Given the description of an element on the screen output the (x, y) to click on. 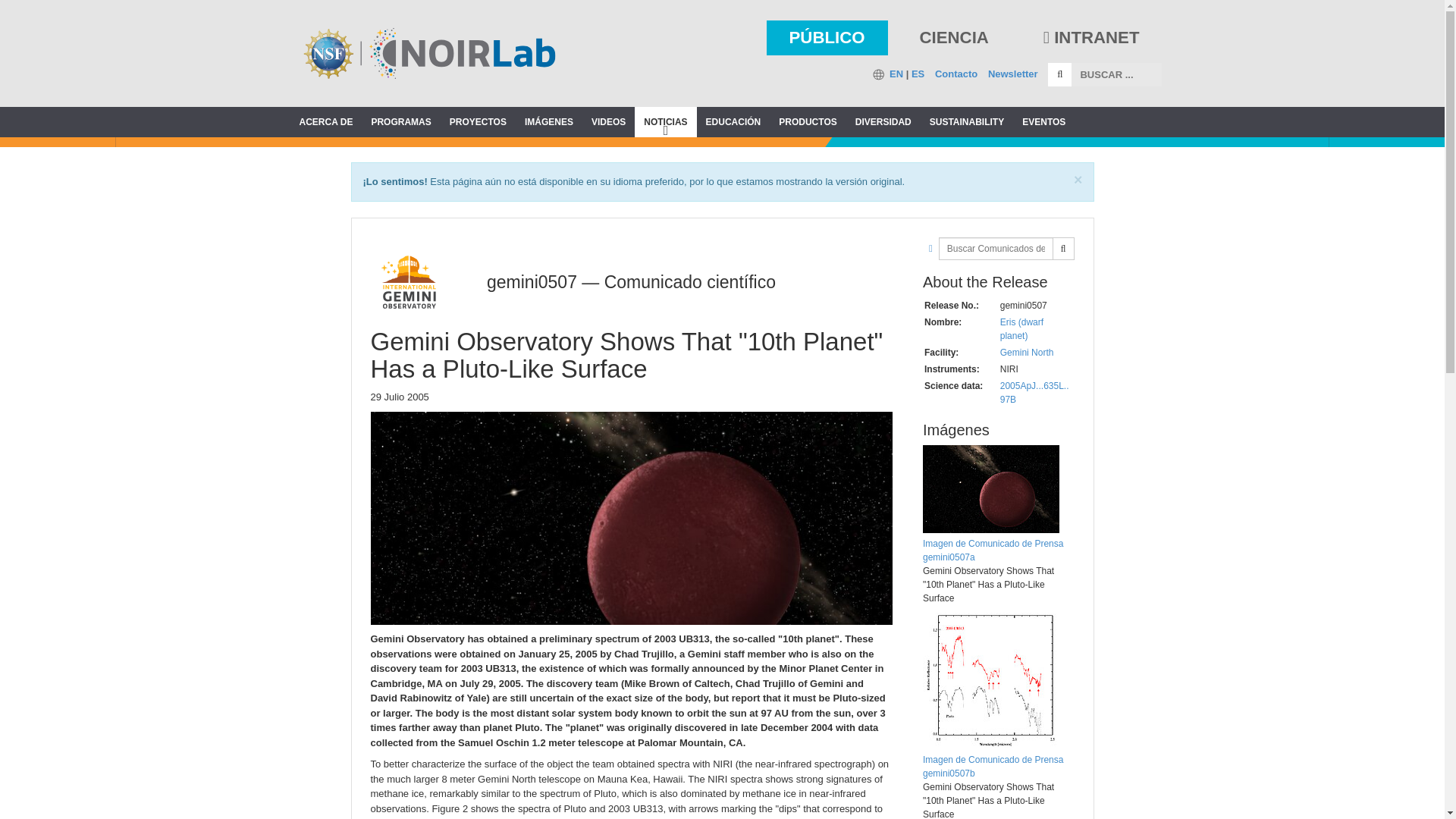
CIENCIA (953, 37)
INTRANET (1091, 36)
ACERCA DE (325, 122)
Contacto (955, 73)
EN (895, 73)
ES (917, 73)
Newsletter (1013, 73)
INTRANET (1090, 37)
CIENCIA (953, 36)
